Given the description of an element on the screen output the (x, y) to click on. 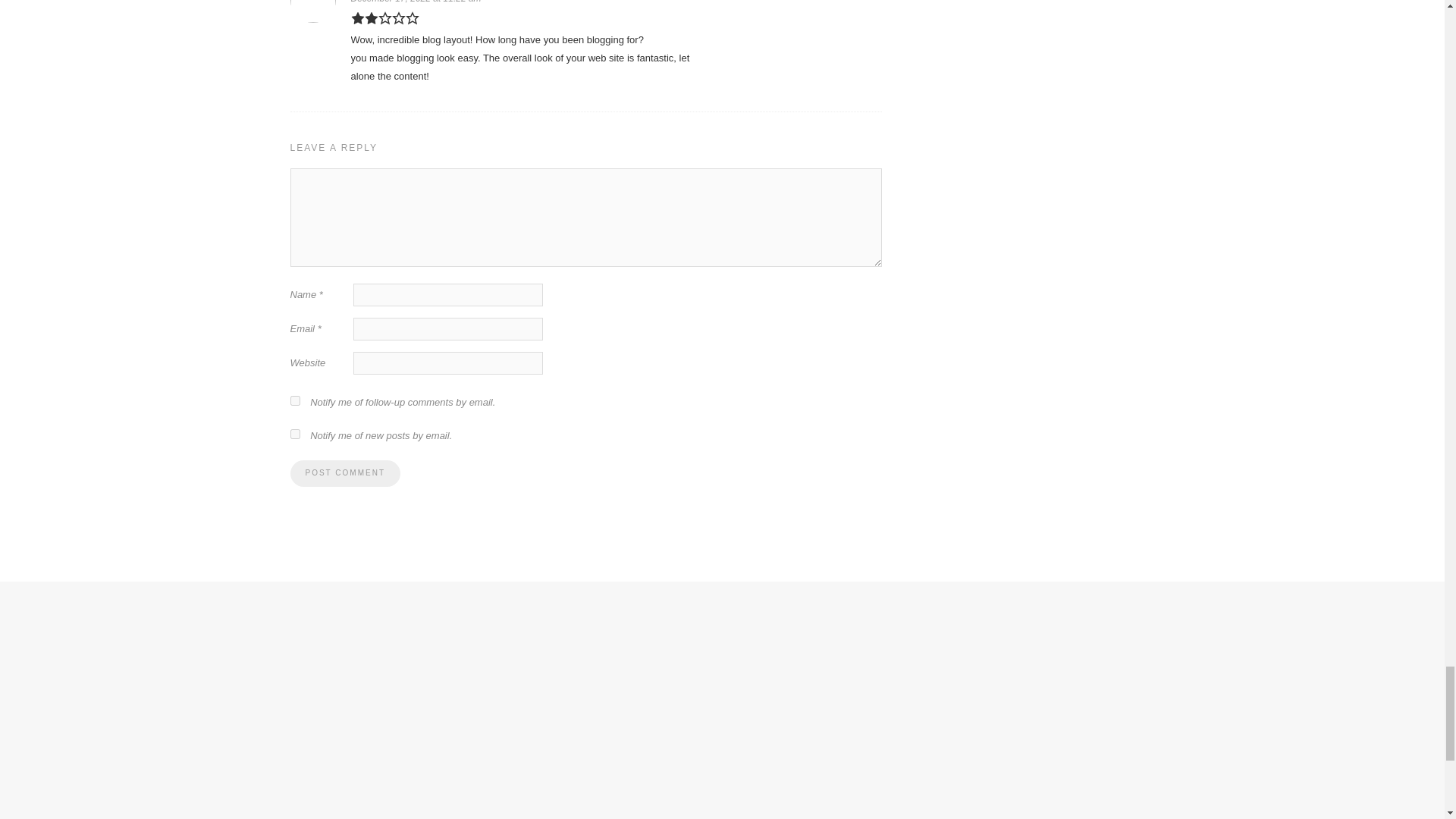
subscribe (294, 400)
Post Comment (343, 473)
subscribe (294, 433)
